Given the description of an element on the screen output the (x, y) to click on. 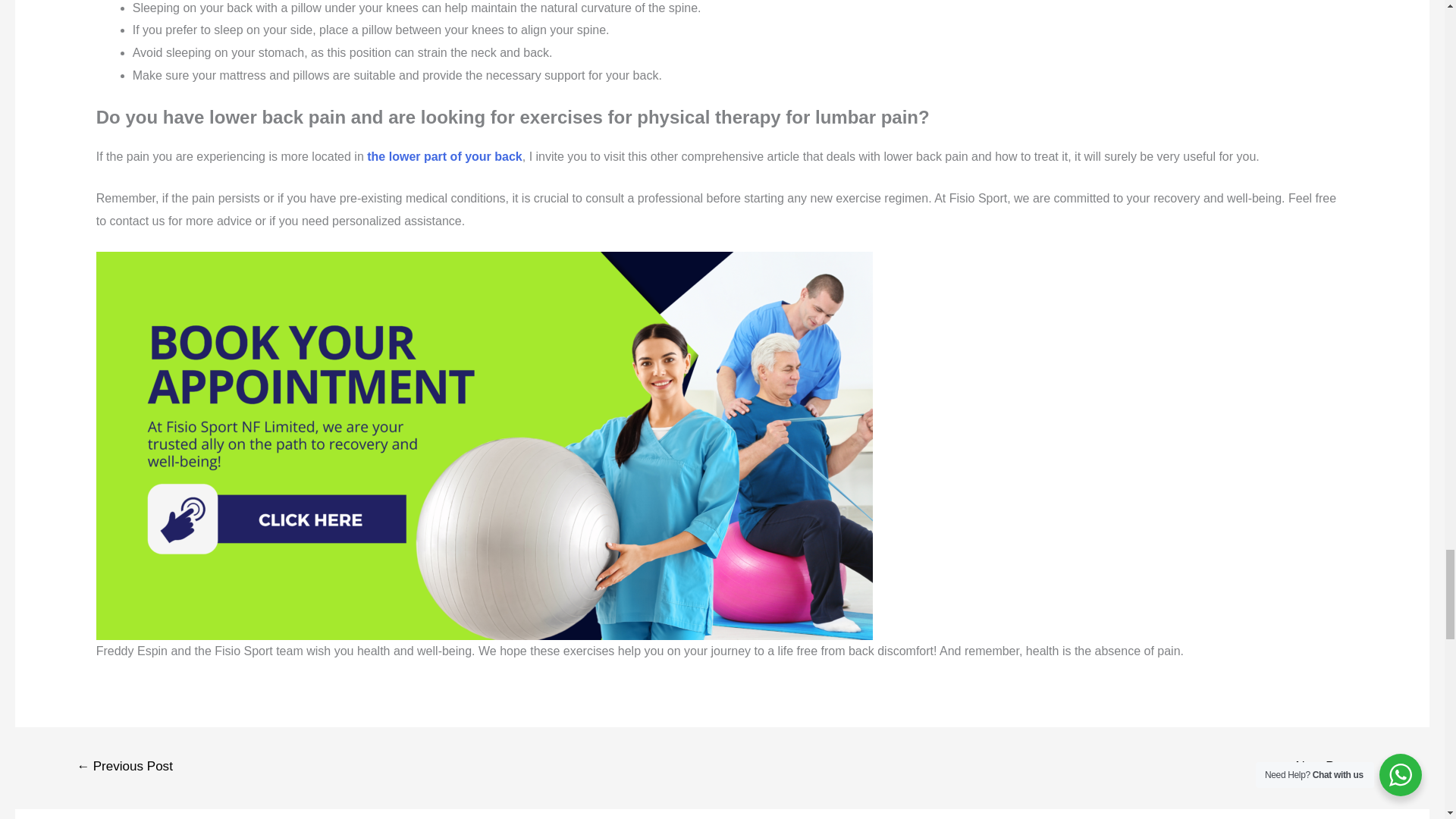
the lower part of your back (443, 155)
